Given the description of an element on the screen output the (x, y) to click on. 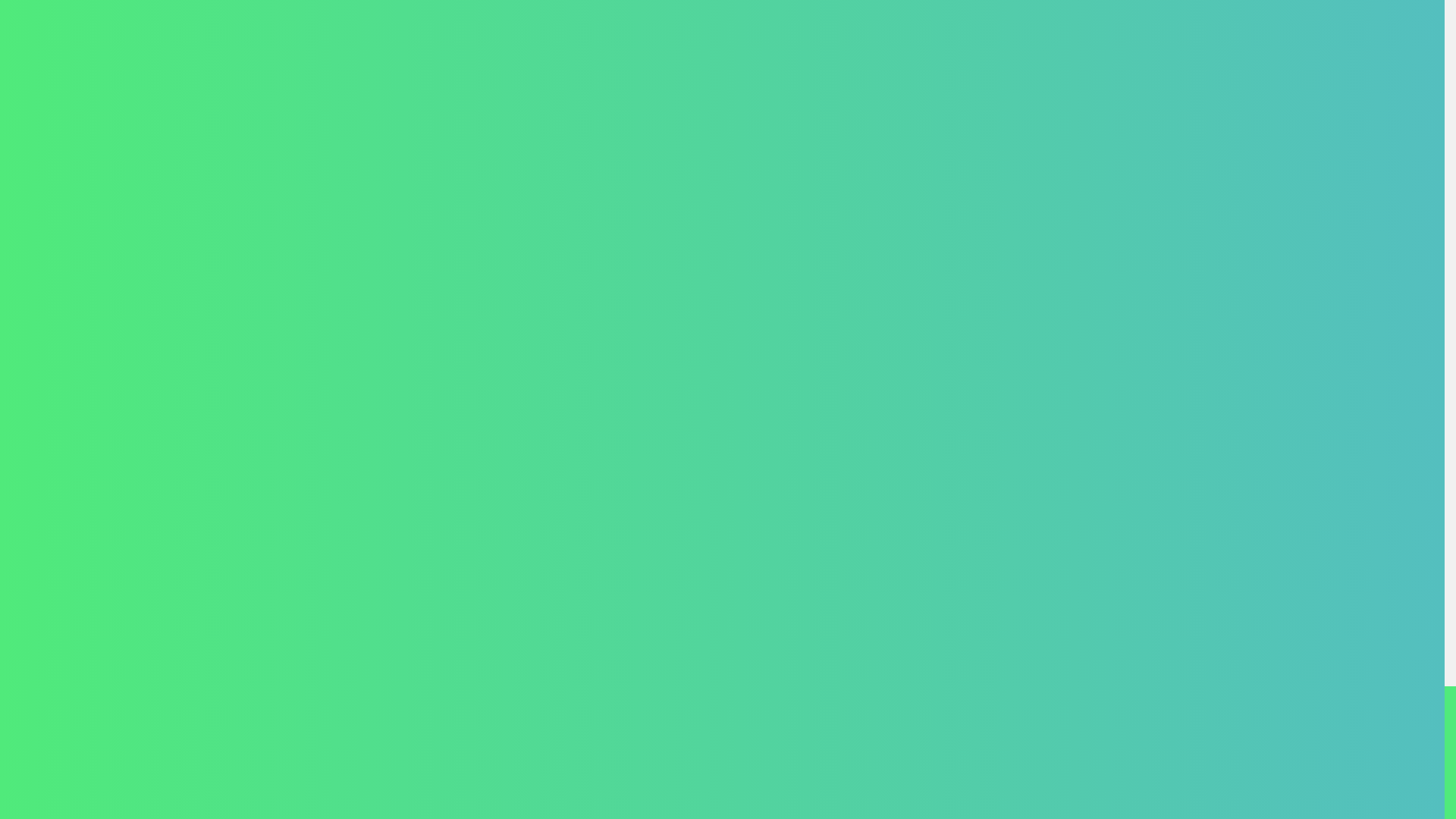
Click to visit (1324, 597)
Click to call (418, 740)
Click to visit (1194, 597)
1800 990 880 (418, 740)
Click to visit (1389, 597)
Click to visit (1259, 597)
